Given the description of an element on the screen output the (x, y) to click on. 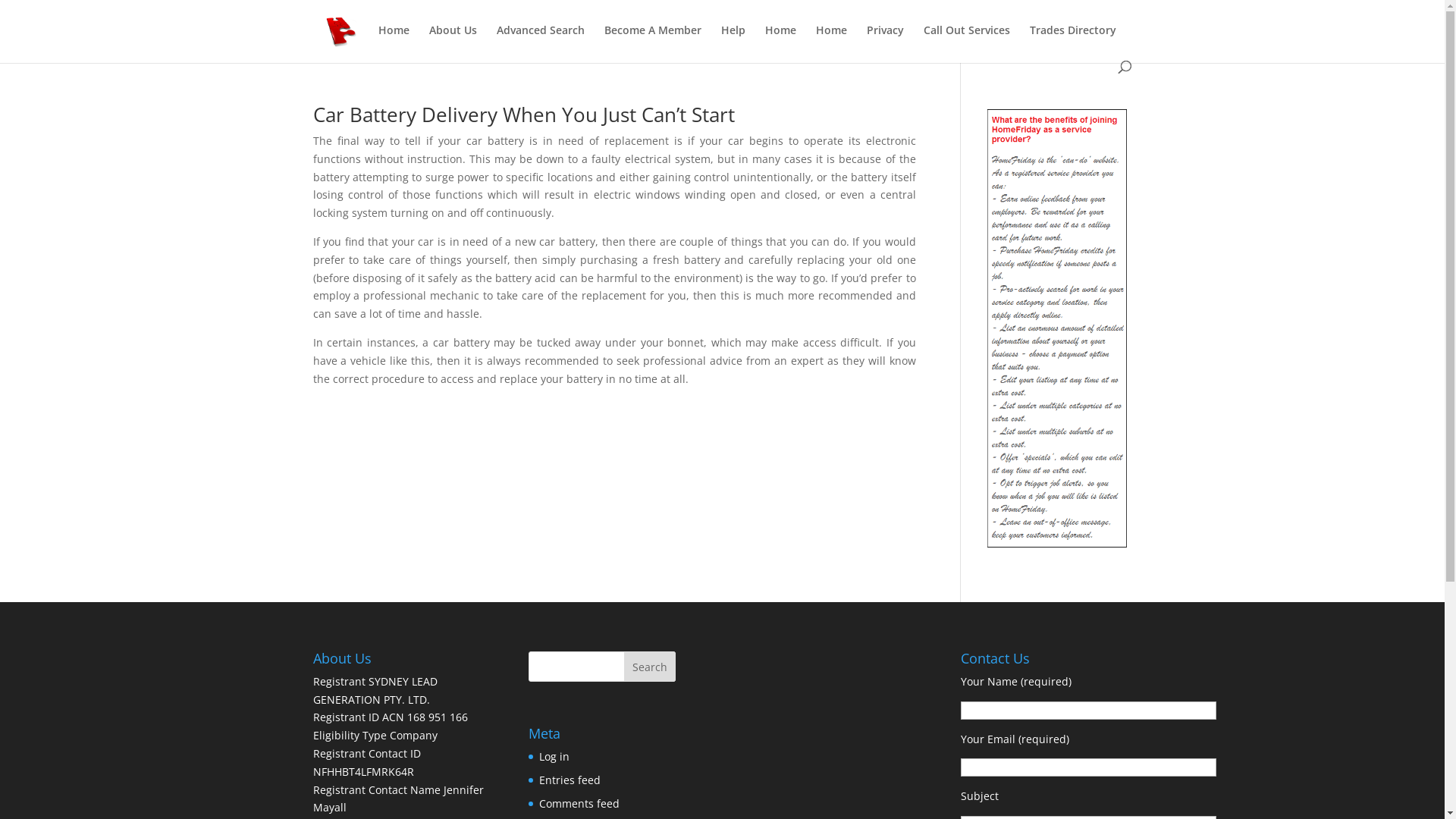
Home Element type: text (831, 42)
Trades Directory Element type: text (1072, 42)
Log in Element type: text (554, 756)
Advanced Search Element type: text (539, 42)
Entries feed Element type: text (569, 779)
Privacy Element type: text (884, 42)
Call Out Services Element type: text (966, 42)
Become A Member Element type: text (651, 42)
Home Element type: text (392, 42)
Home Element type: text (779, 42)
Search Element type: text (649, 666)
Help Element type: text (732, 42)
About Us Element type: text (452, 42)
Comments feed Element type: text (579, 803)
